Given the description of an element on the screen output the (x, y) to click on. 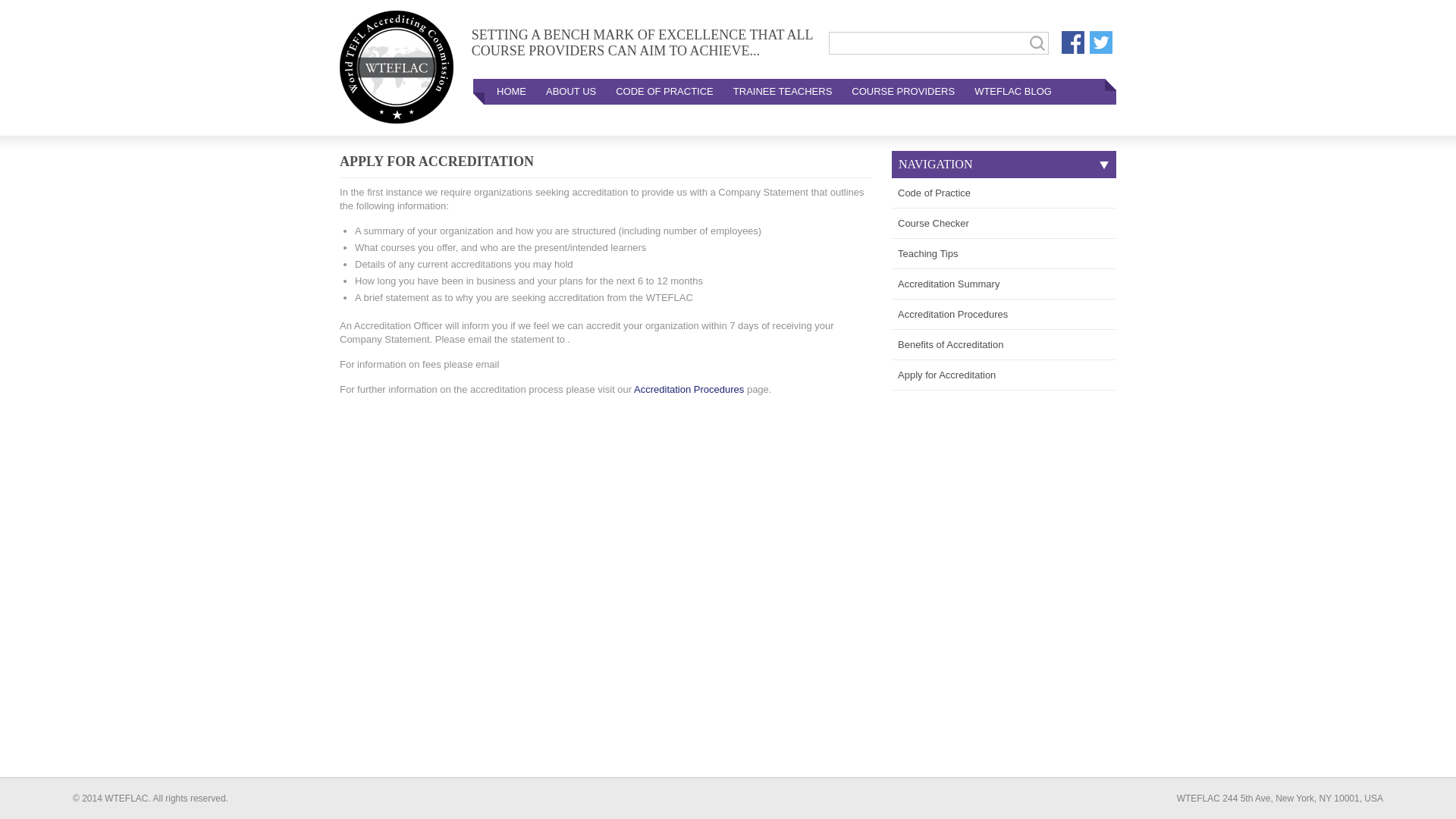
Accreditation Procedures (688, 389)
CODE OF PRACTICE (664, 91)
Benefits of Accreditation (1003, 345)
TRAINEE TEACHERS (783, 91)
ABOUT US (570, 91)
Course Checker (1003, 223)
HOME (510, 91)
COURSE PROVIDERS (902, 91)
WTEFLAC BLOG (1012, 91)
Accreditation Procedures (1003, 314)
Accreditation Summary (1003, 284)
Teaching Tips (1003, 254)
Apply for Accreditation (1003, 375)
